Given the description of an element on the screen output the (x, y) to click on. 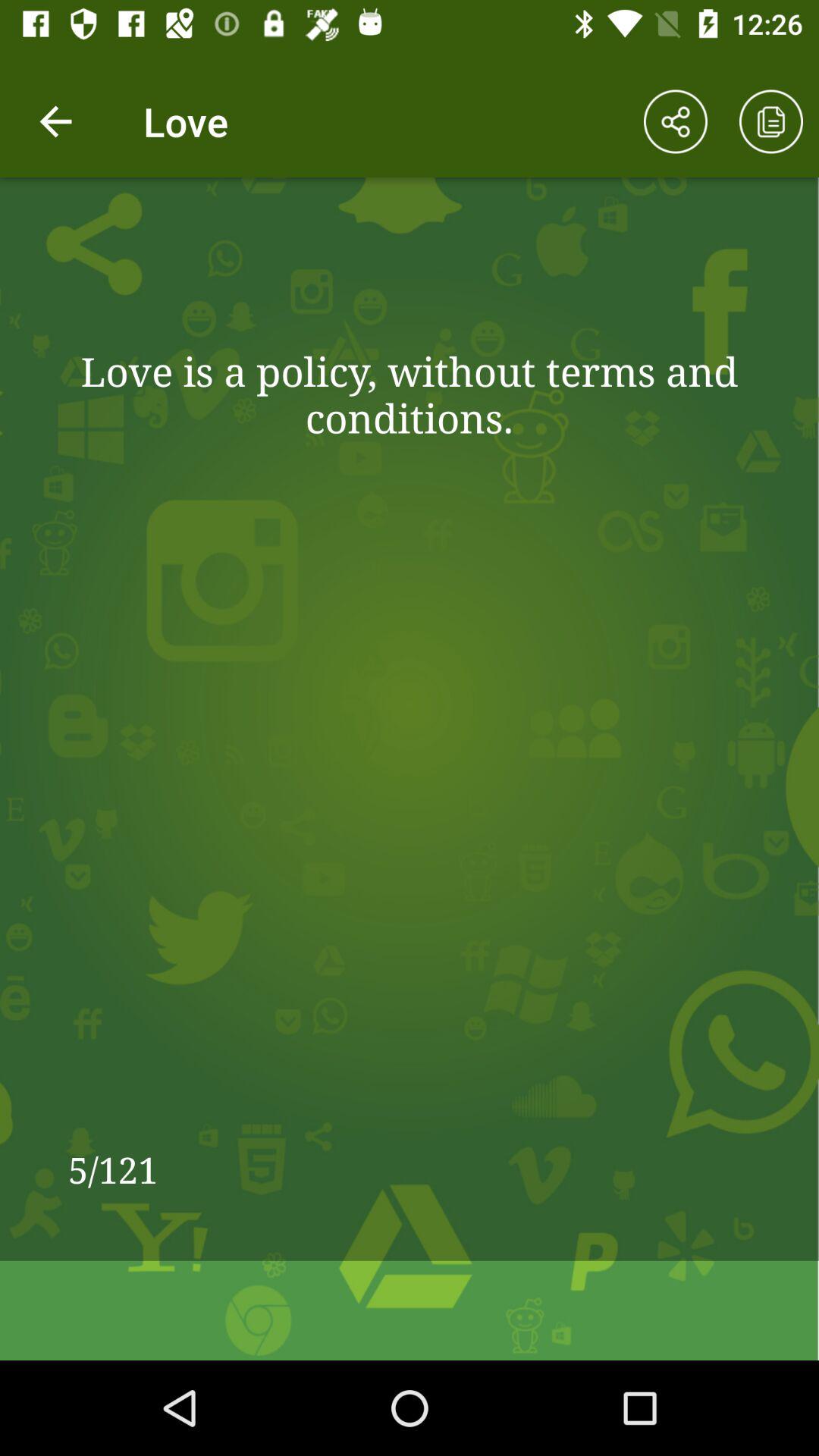
sharrid button (675, 121)
